Given the description of an element on the screen output the (x, y) to click on. 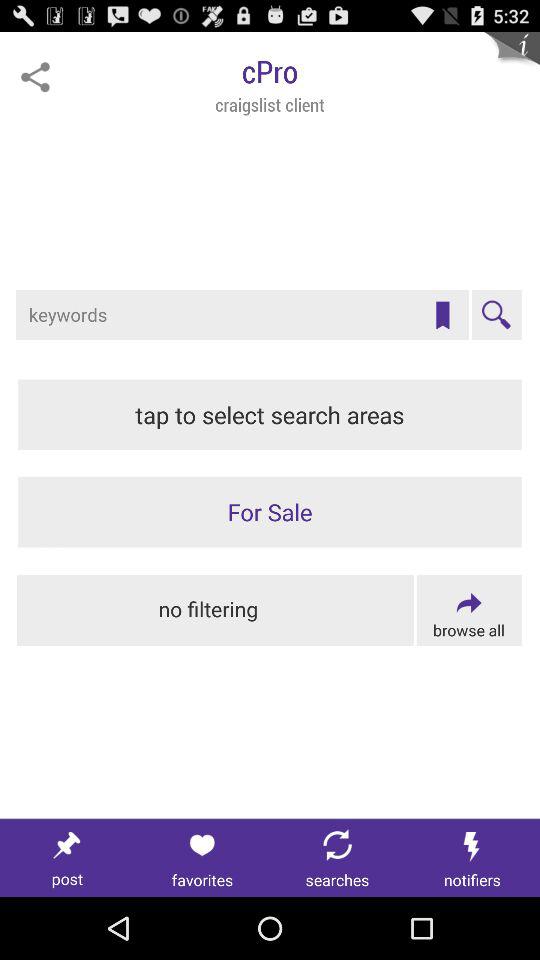
share cilent (35, 77)
